Given the description of an element on the screen output the (x, y) to click on. 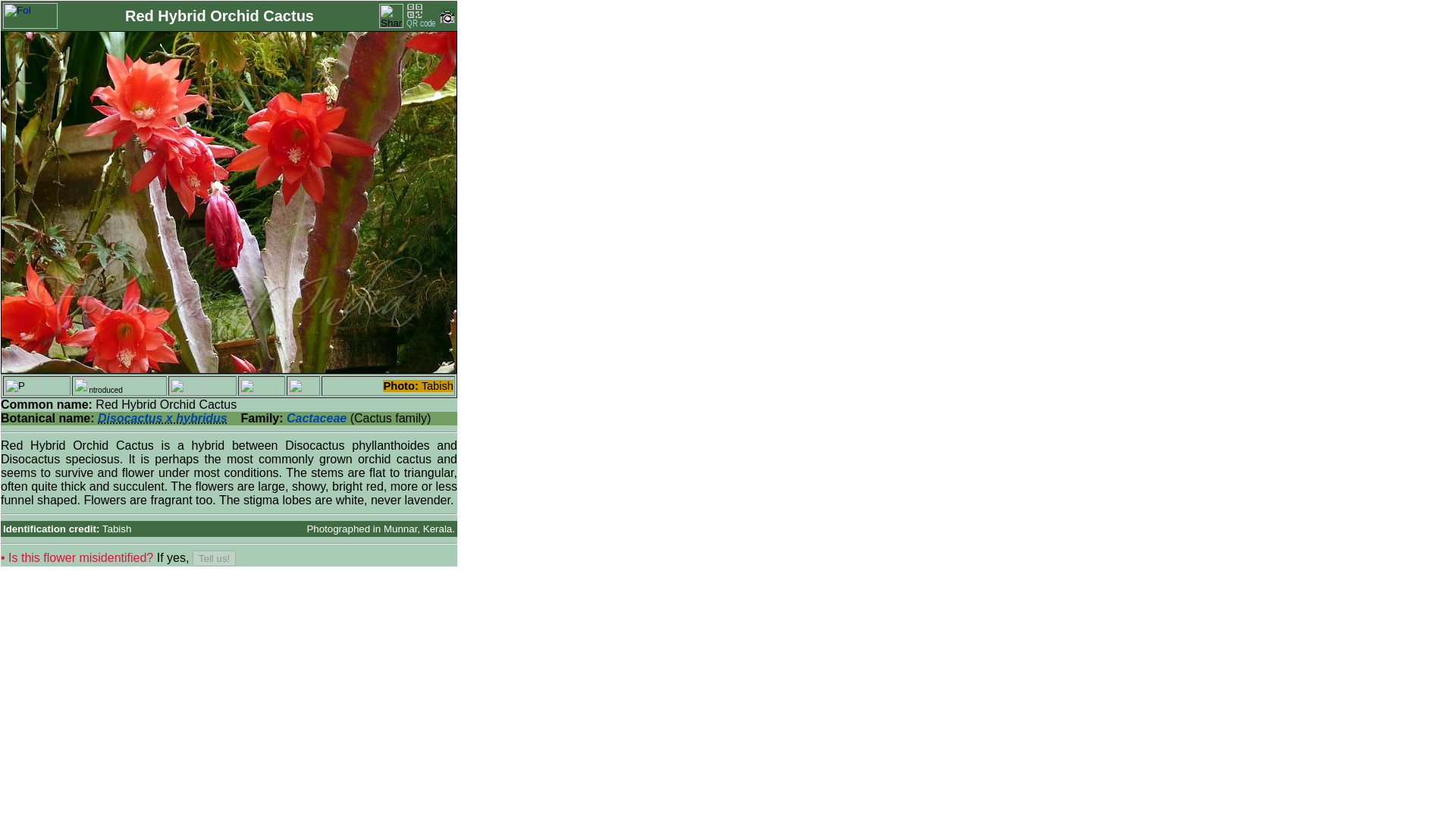
Tell us! (213, 558)
Unknown (295, 385)
Get QR code (421, 15)
Photo info (446, 19)
Herb (186, 385)
